Given the description of an element on the screen output the (x, y) to click on. 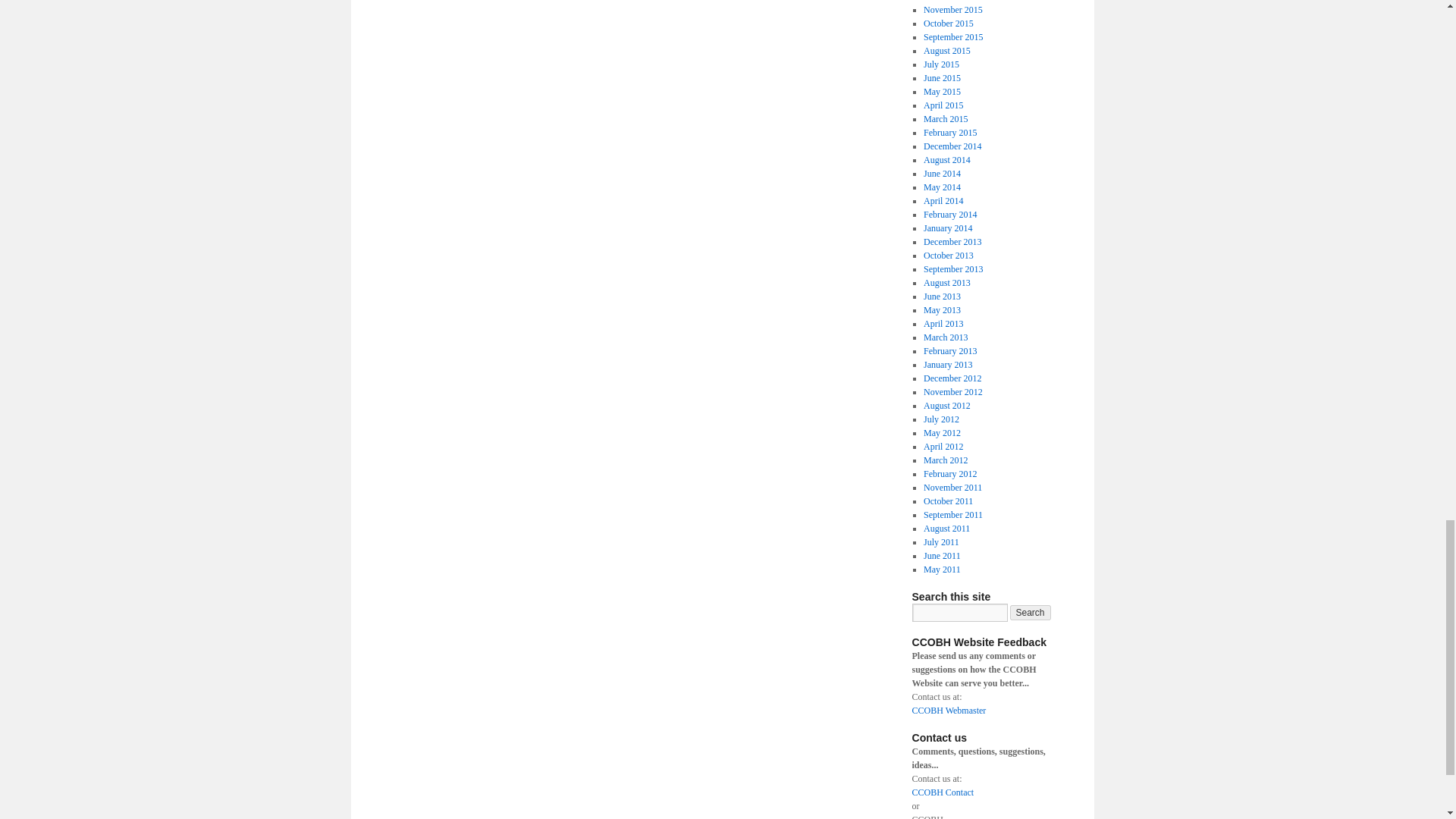
Search (1030, 612)
